Given the description of an element on the screen output the (x, y) to click on. 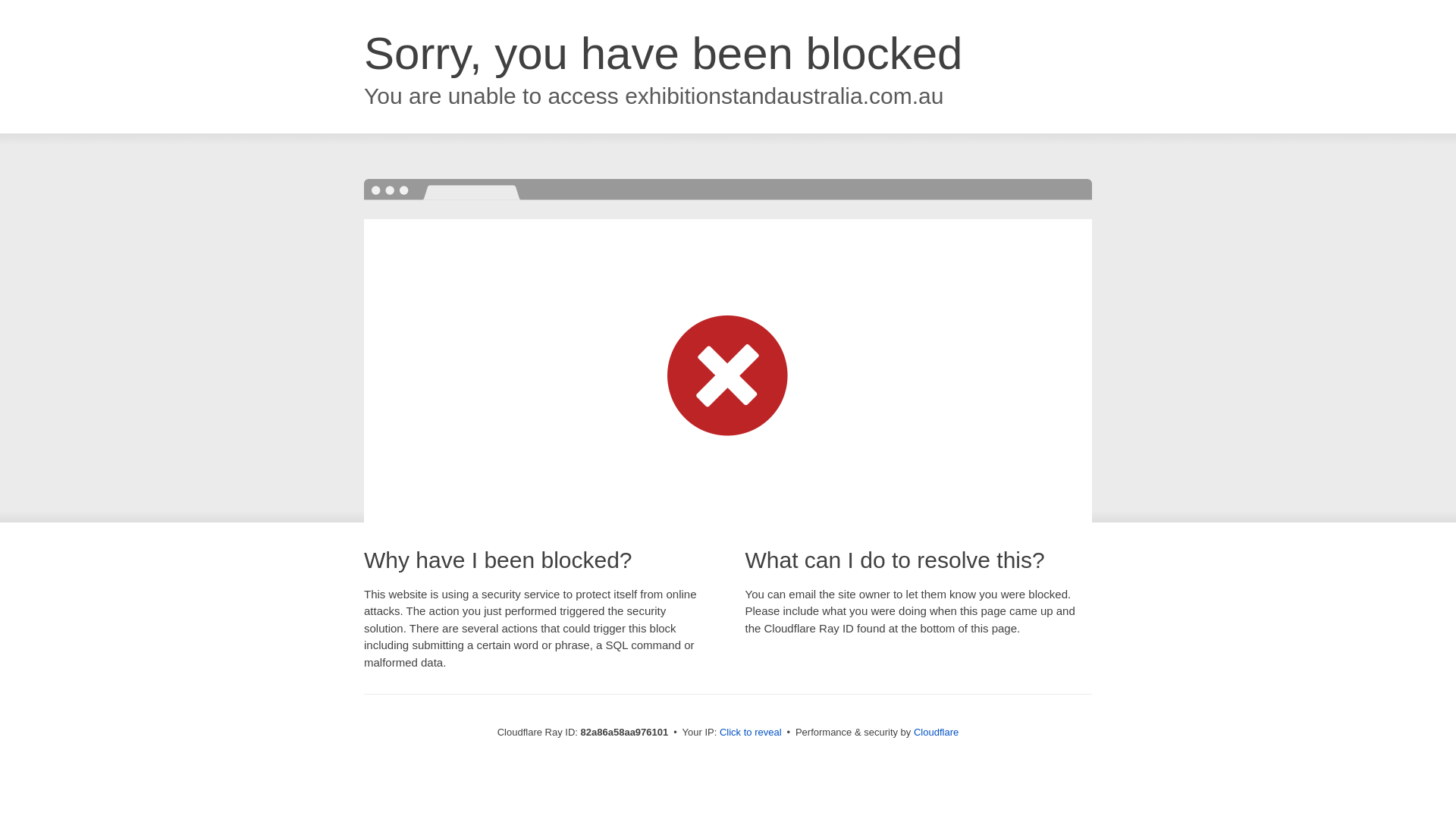
Cloudflare Element type: text (935, 731)
Click to reveal Element type: text (750, 732)
